Given the description of an element on the screen output the (x, y) to click on. 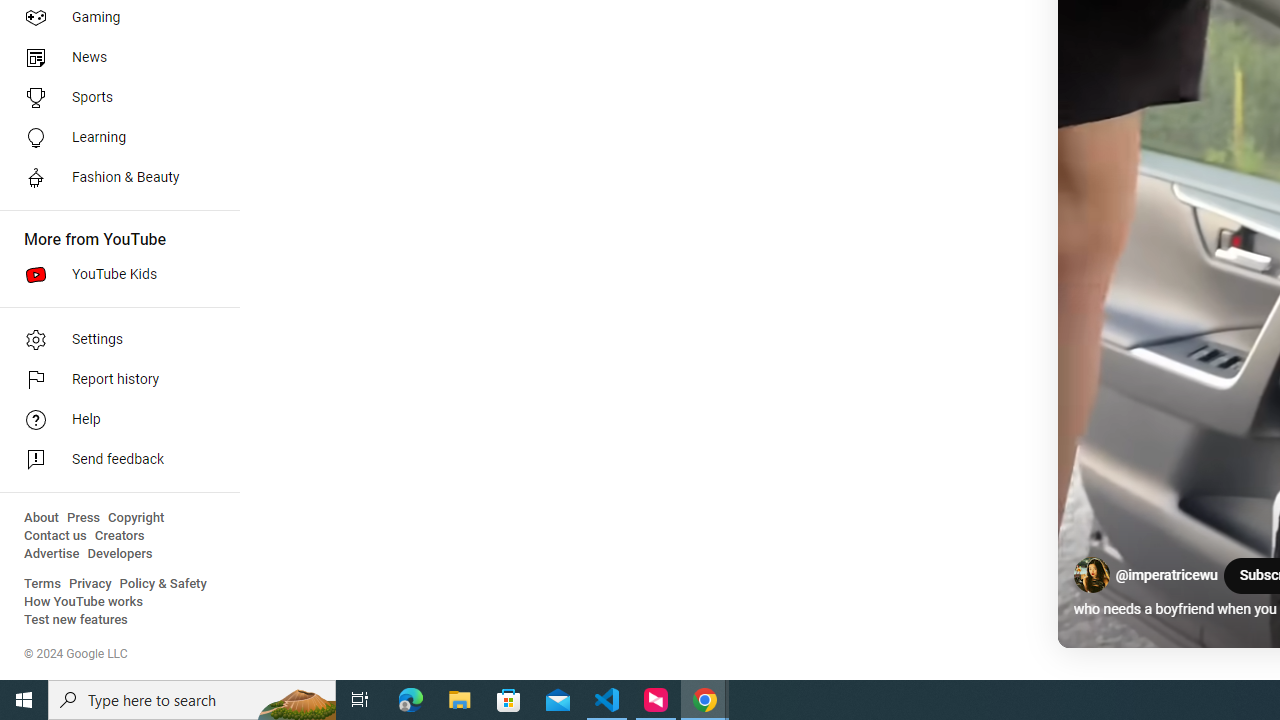
Press (83, 518)
Policy & Safety (163, 584)
News (113, 57)
YouTube Kids (113, 274)
Fashion & Beauty (113, 177)
Contact us (55, 536)
Test new features (76, 620)
Copyright (136, 518)
Developers (120, 554)
Creators (118, 536)
Send feedback (113, 459)
Advertise (51, 554)
